Given the description of an element on the screen output the (x, y) to click on. 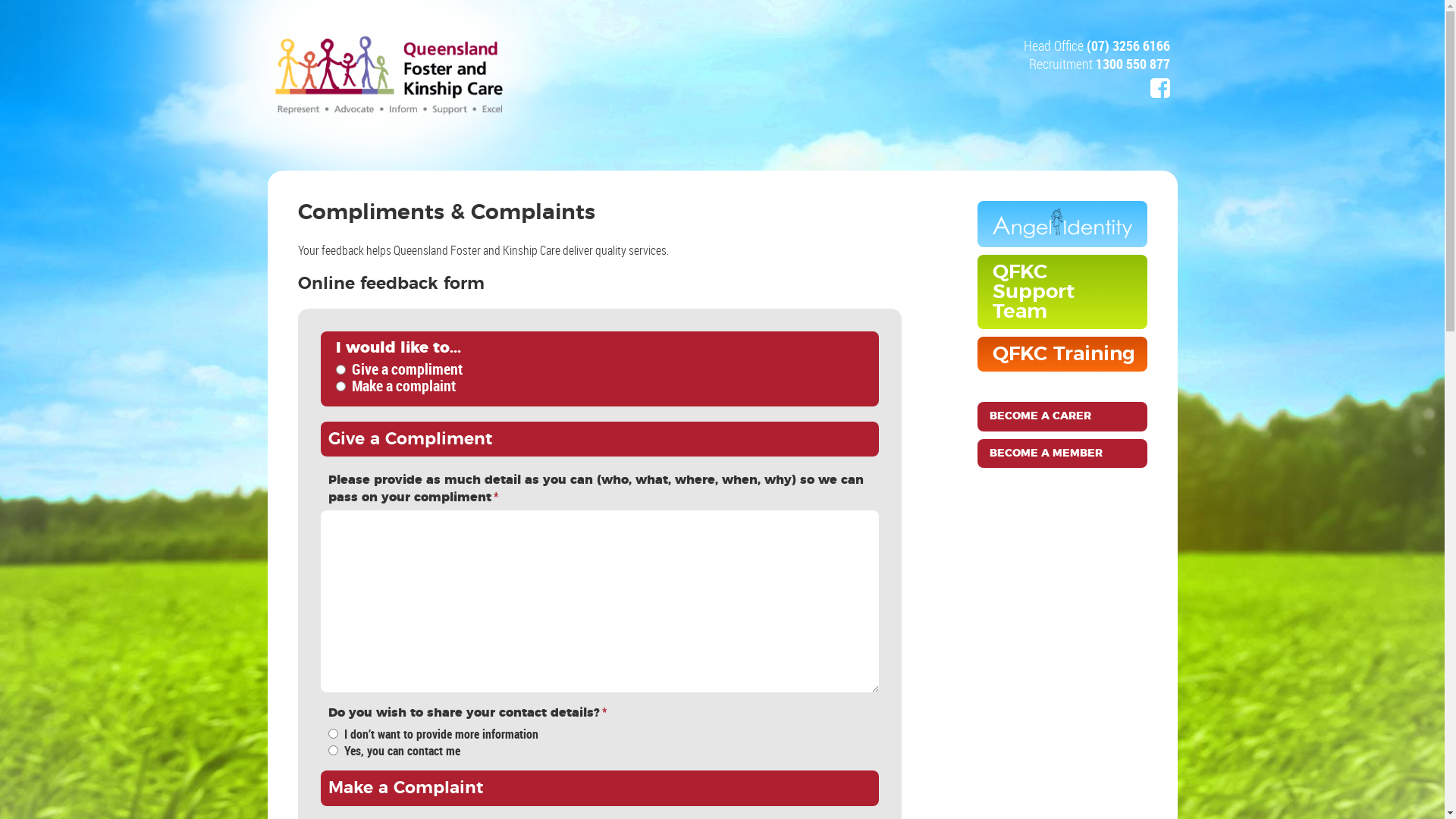
Head Office (07) 3256 6166 Element type: text (1096, 45)
QFKC Training Element type: text (1061, 354)
BECOME A MEMBER Element type: text (1061, 453)
Recruitment 1300 550 877 Element type: text (1098, 63)
BECOME A CARER Element type: text (1061, 415)
QFKC Support Team Element type: text (1061, 291)
